Given the description of an element on the screen output the (x, y) to click on. 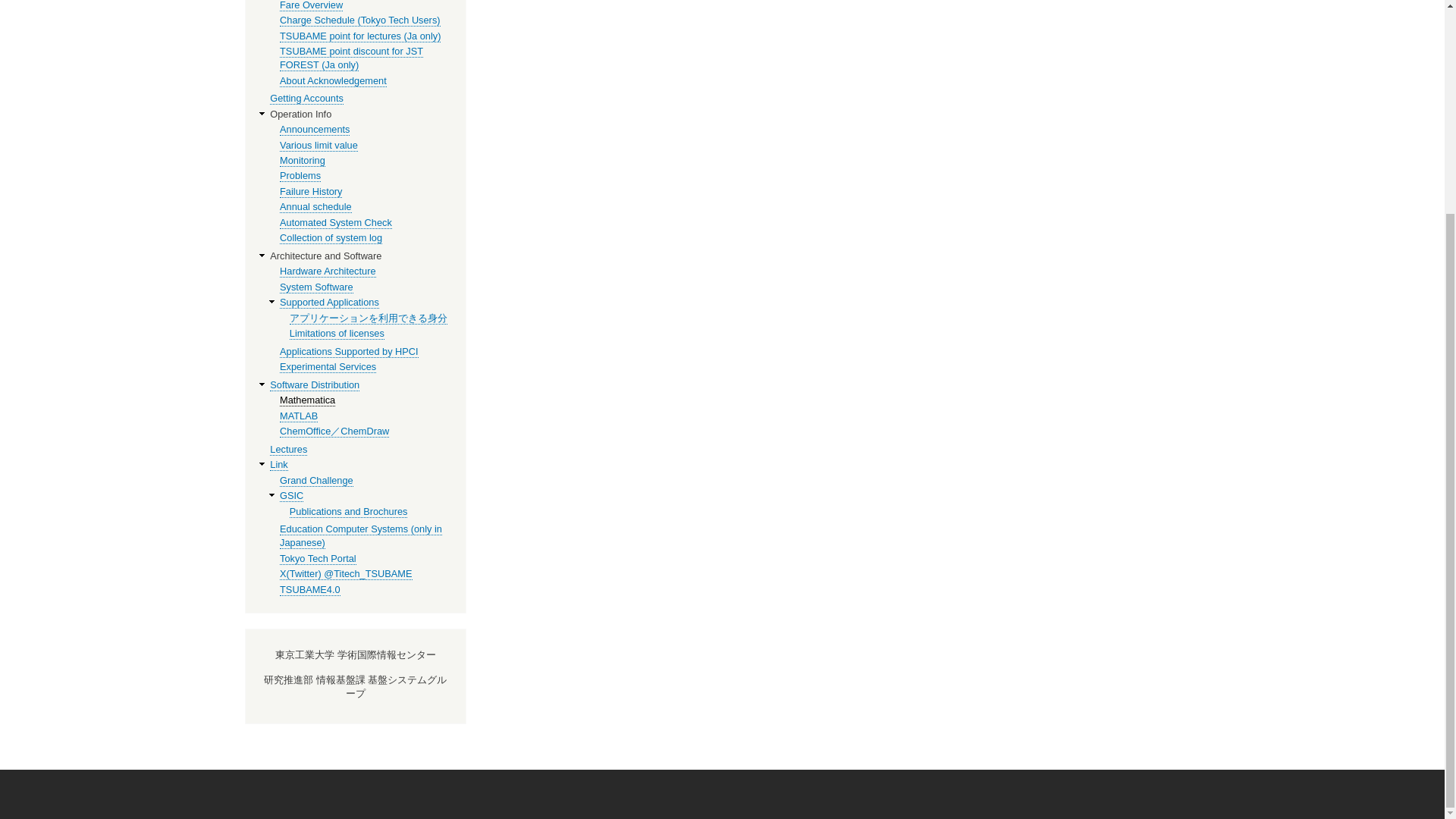
Failure History (310, 191)
Supported Applications (328, 302)
Annual schedule (315, 206)
Hardware Architecture (327, 271)
Announcements (314, 129)
Various limit value (318, 145)
Problems (299, 175)
Monitoring (301, 160)
System Software (316, 287)
Applications Supported by HPCI (349, 351)
Experimental Services (327, 367)
Getting Accounts (306, 98)
Collection of system log (330, 237)
About Acknowledgement (333, 80)
link (277, 464)
